Given the description of an element on the screen output the (x, y) to click on. 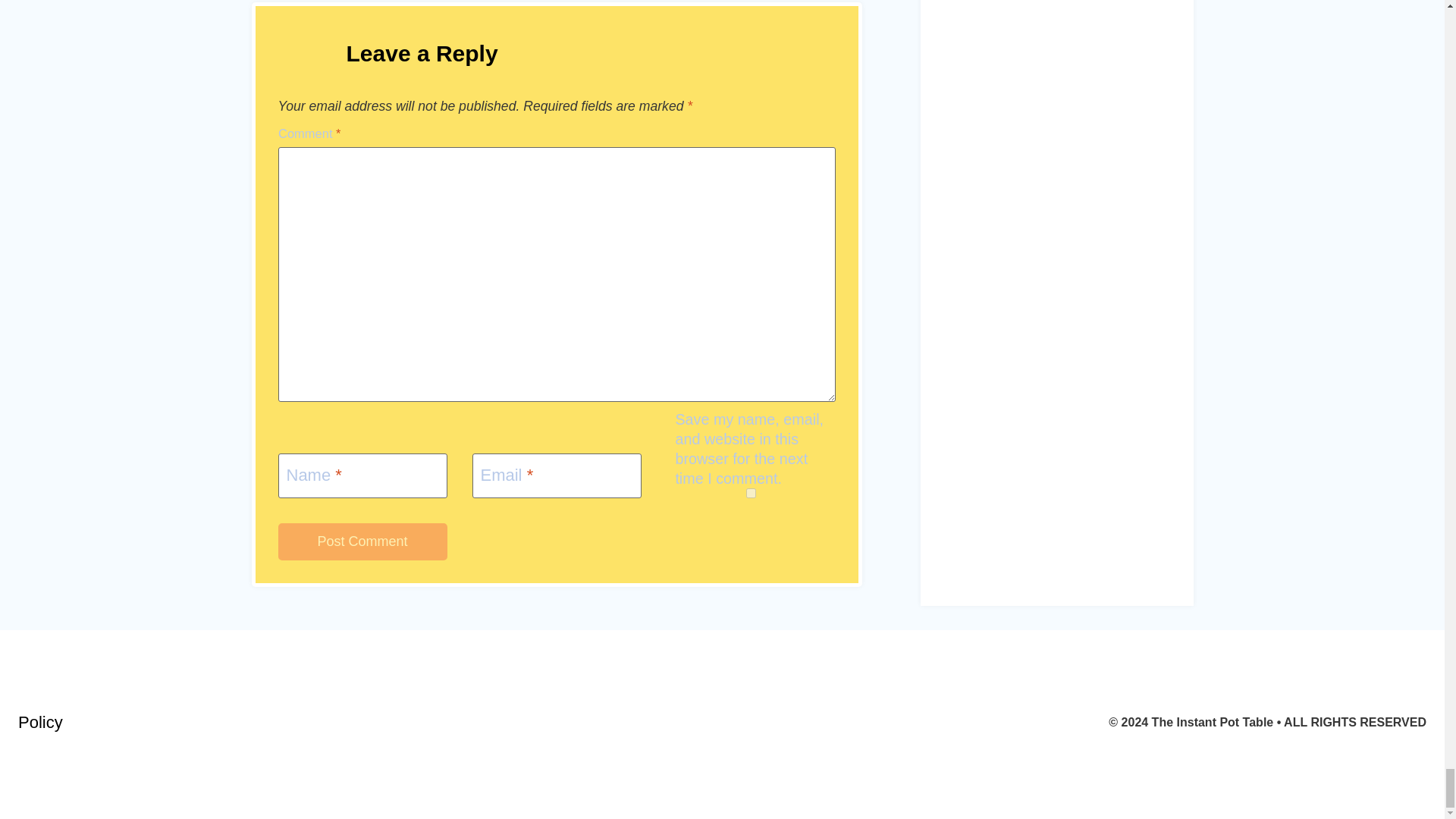
yes (749, 492)
Post Comment (362, 541)
